Given the description of an element on the screen output the (x, y) to click on. 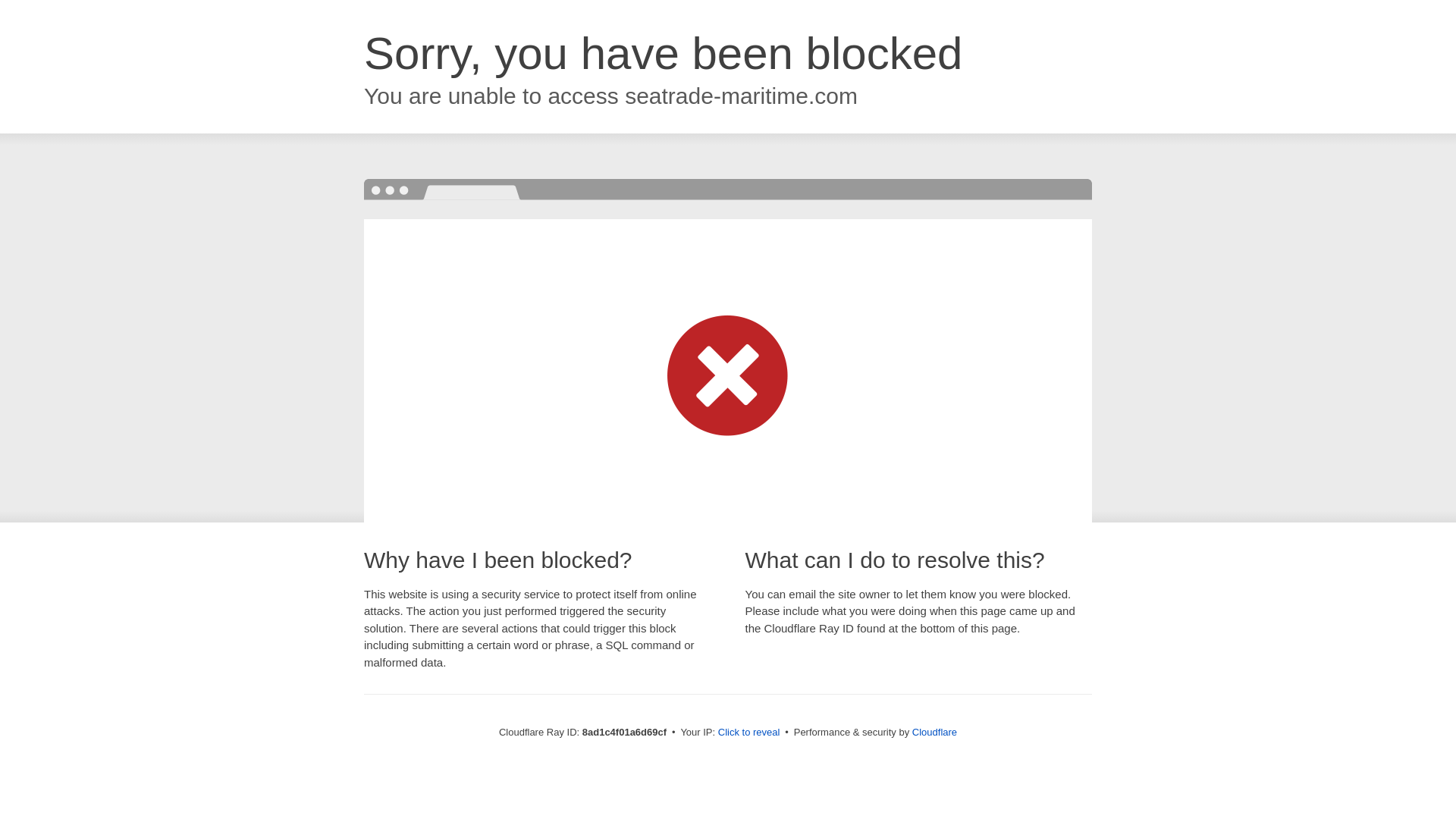
Cloudflare (934, 731)
Click to reveal (748, 732)
